Given the description of an element on the screen output the (x, y) to click on. 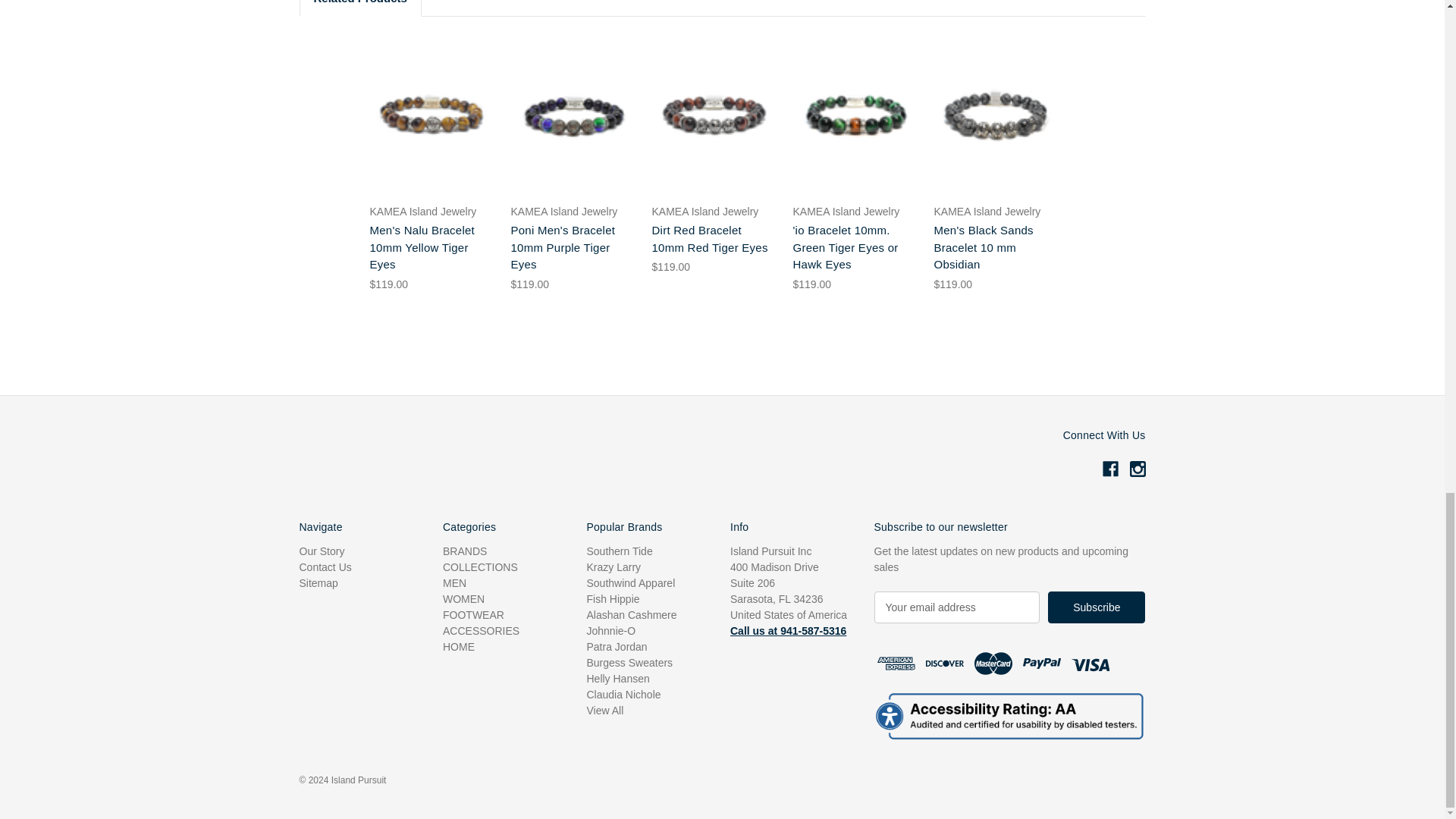
Kamea Nalu Bracelet 10mm Yellow Tiger Eyes (431, 113)
Subscribe (1096, 607)
Dirt Red Bracelet 10mm Red Tiger Eyes (713, 114)
